Given the description of an element on the screen output the (x, y) to click on. 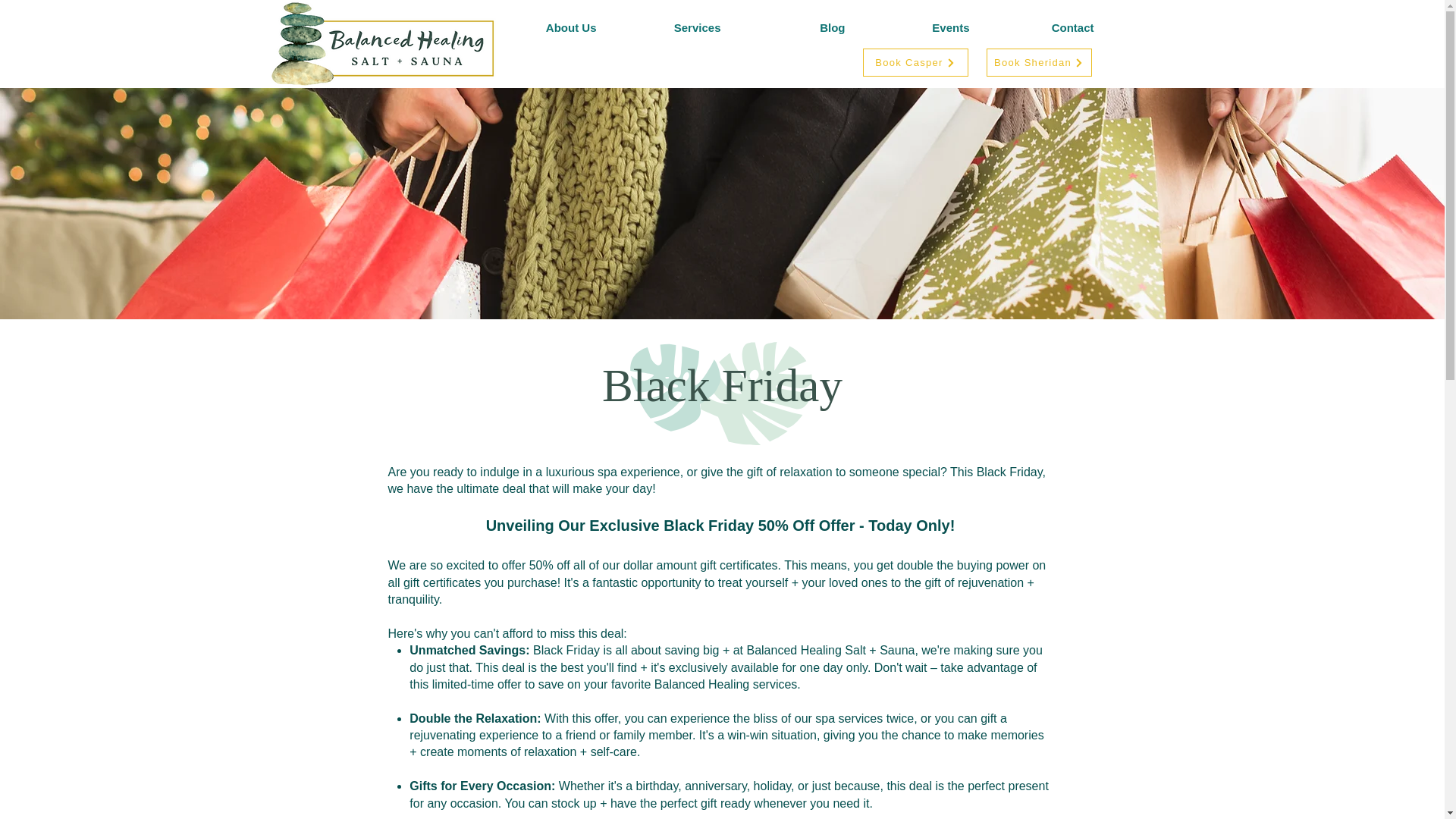
Events (919, 25)
Book Sheridan (1037, 62)
Services (670, 25)
Contact (1043, 25)
Blog (794, 25)
About Us (544, 25)
Book Casper (915, 62)
